Given the description of an element on the screen output the (x, y) to click on. 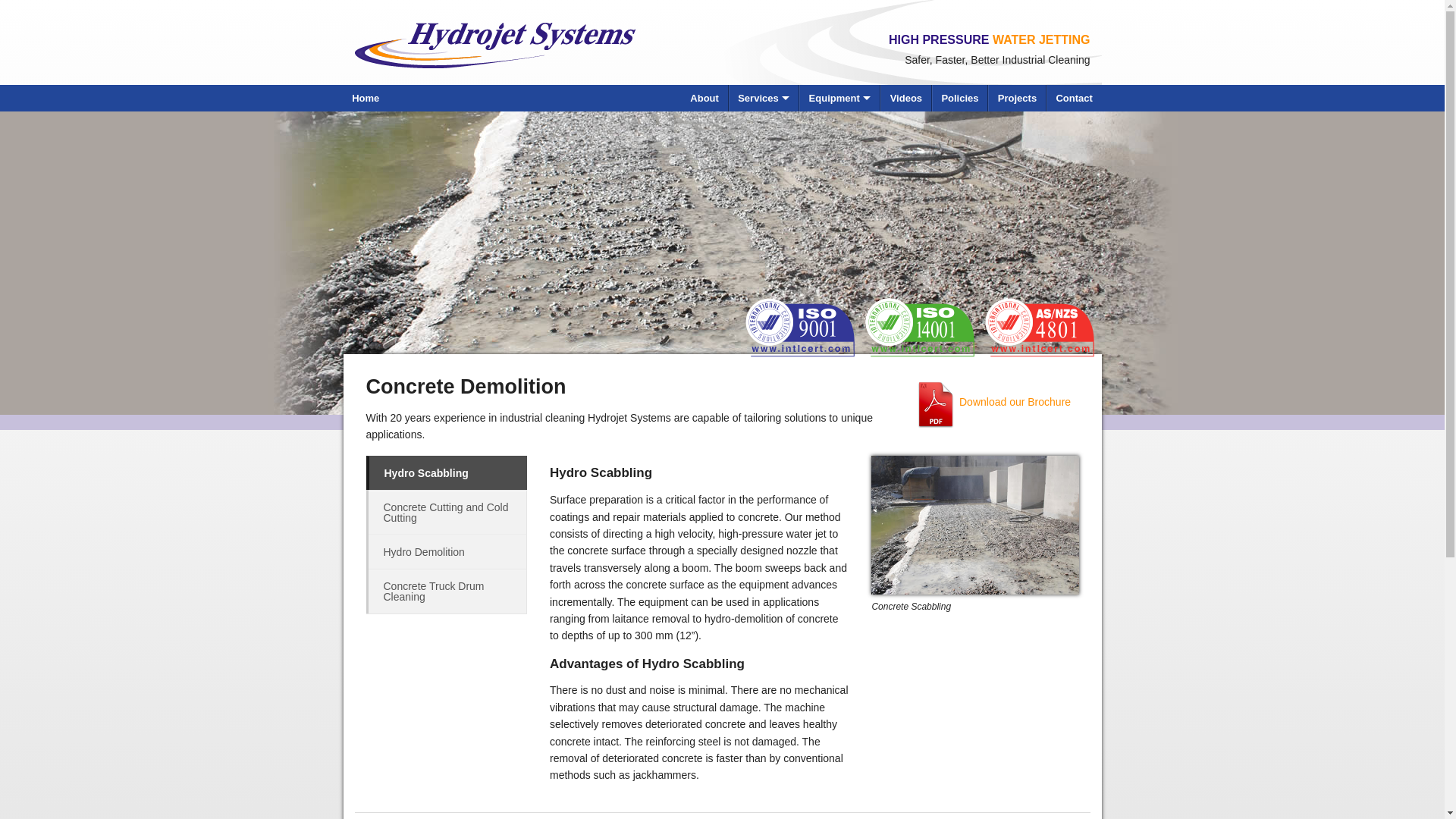
Contact Element type: text (1074, 97)
Download our Brochure Element type: text (993, 404)
Equipment Element type: text (839, 97)
Videos Element type: text (906, 97)
Hydro Scabbling Element type: text (447, 472)
Projects Element type: text (1016, 97)
Services Element type: text (763, 97)
Hydro Demolition Element type: text (447, 551)
WATER JETTING Element type: text (1041, 39)
Policies Element type: text (959, 97)
Home Element type: text (364, 97)
Concrete Truck Drum Cleaning Element type: text (447, 590)
Concrete Cutting and Cold Cutting Element type: text (447, 511)
About Element type: text (704, 97)
